Given the description of an element on the screen output the (x, y) to click on. 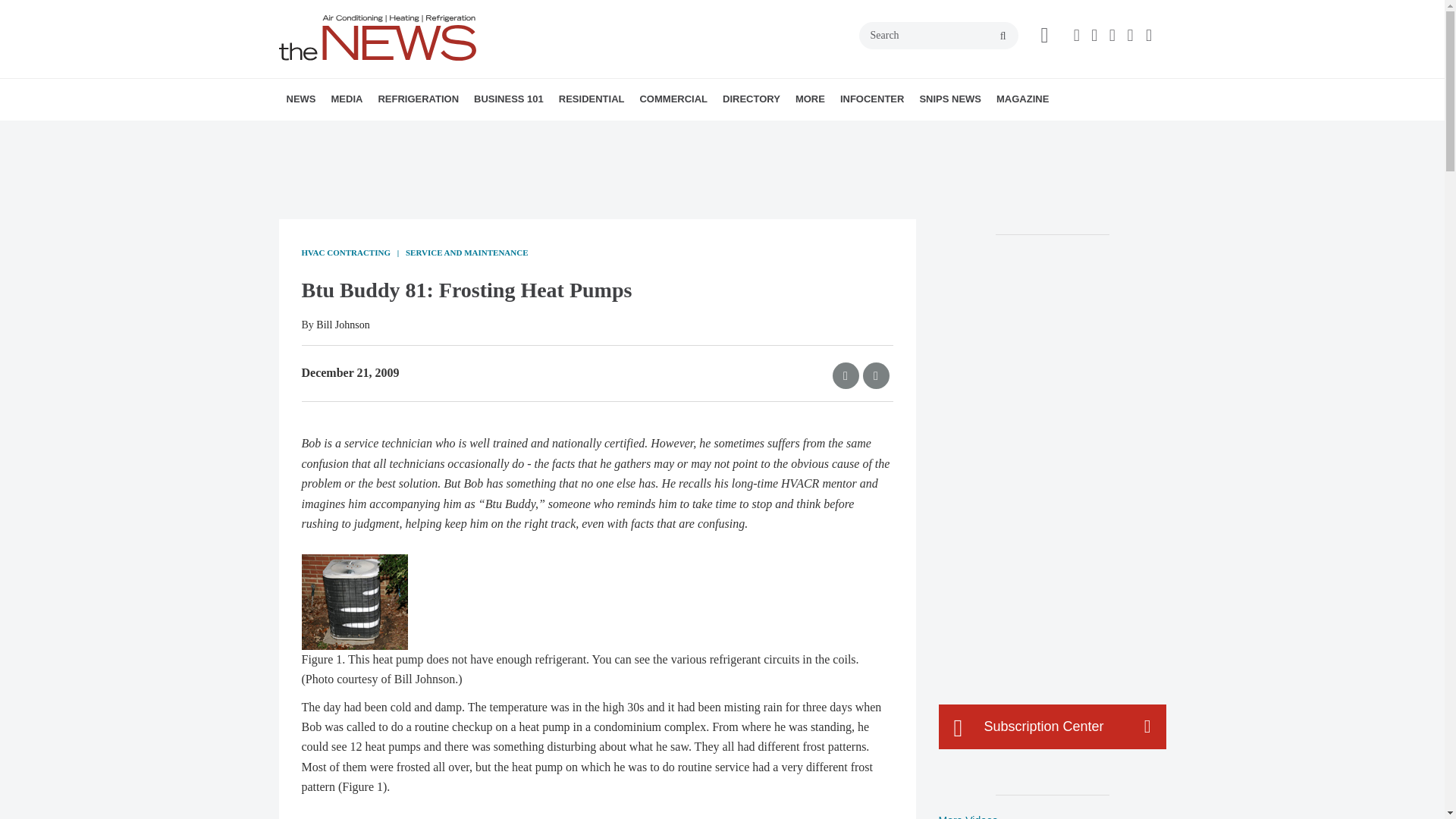
REFRIGERATION (417, 98)
AHR EXPO 2024 VIDEOS (424, 132)
Search (938, 35)
BUSINESS 101 (508, 98)
PODCASTS (430, 132)
NEW HVAC PRODUCTS (380, 132)
EBOOKS (442, 132)
FROSTLINES (478, 132)
REFRIGERANT REGULATIONS (472, 132)
MANUFACTURER REPORTS (386, 132)
